Given the description of an element on the screen output the (x, y) to click on. 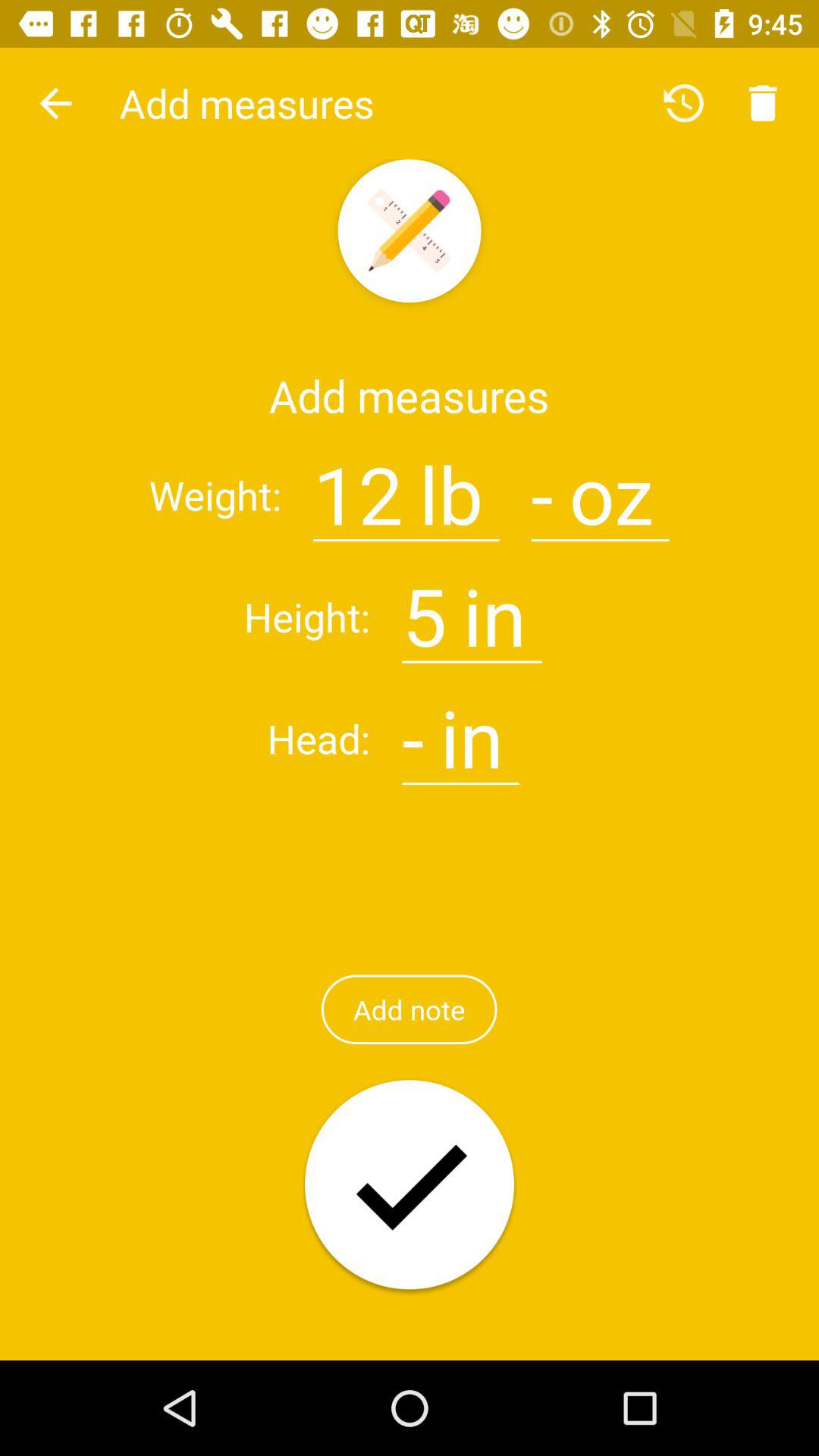
symbol image (542, 485)
